Given the description of an element on the screen output the (x, y) to click on. 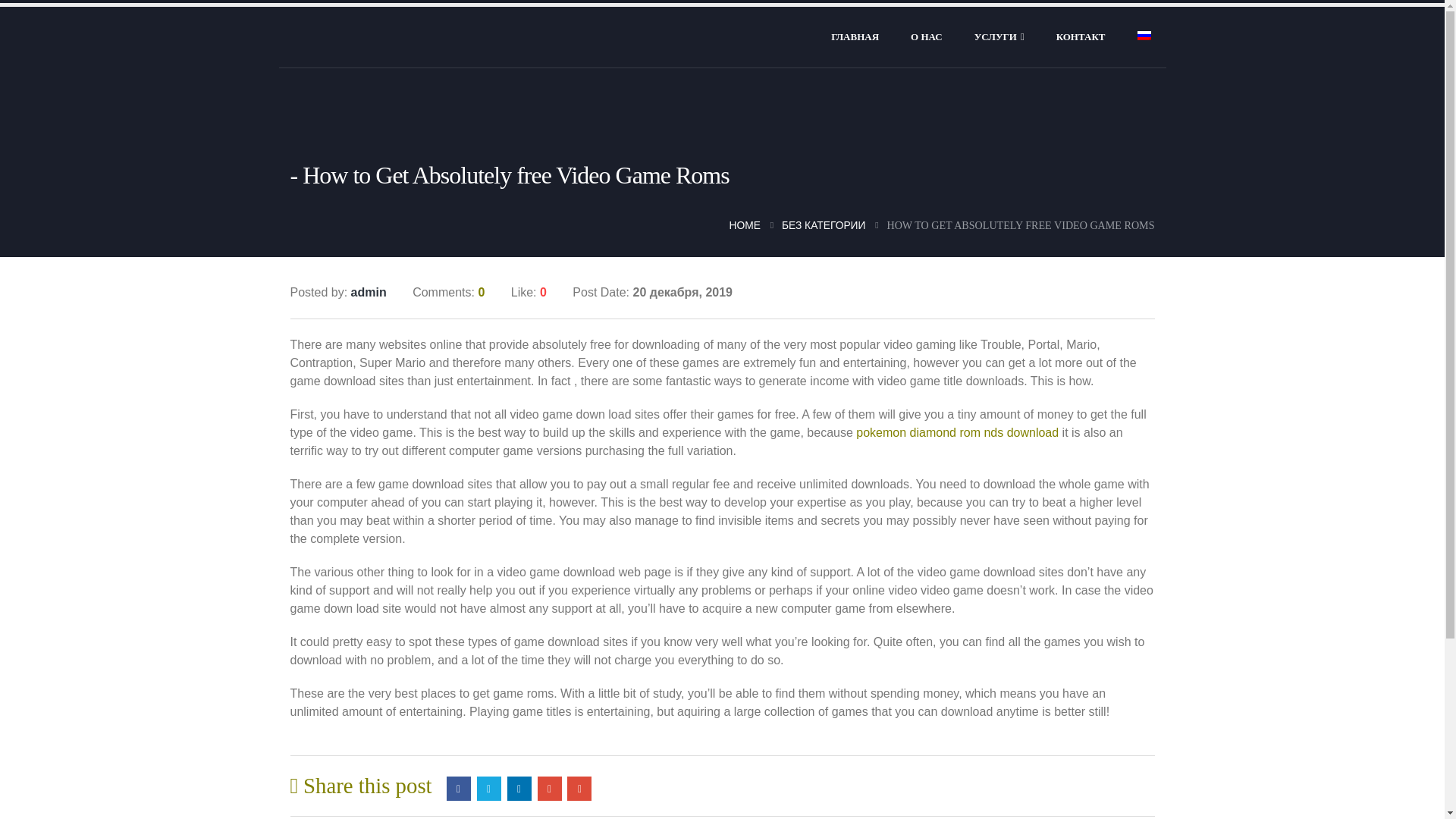
LinkedIn (518, 788)
Twitter (488, 788)
Facebook (458, 788)
Twitter (488, 788)
Email (579, 788)
LinkedIn (518, 788)
HOME (744, 225)
Go to Home Page (744, 225)
Email (579, 788)
Facebook (458, 788)
pokemon diamond rom nds download (957, 431)
